Given the description of an element on the screen output the (x, y) to click on. 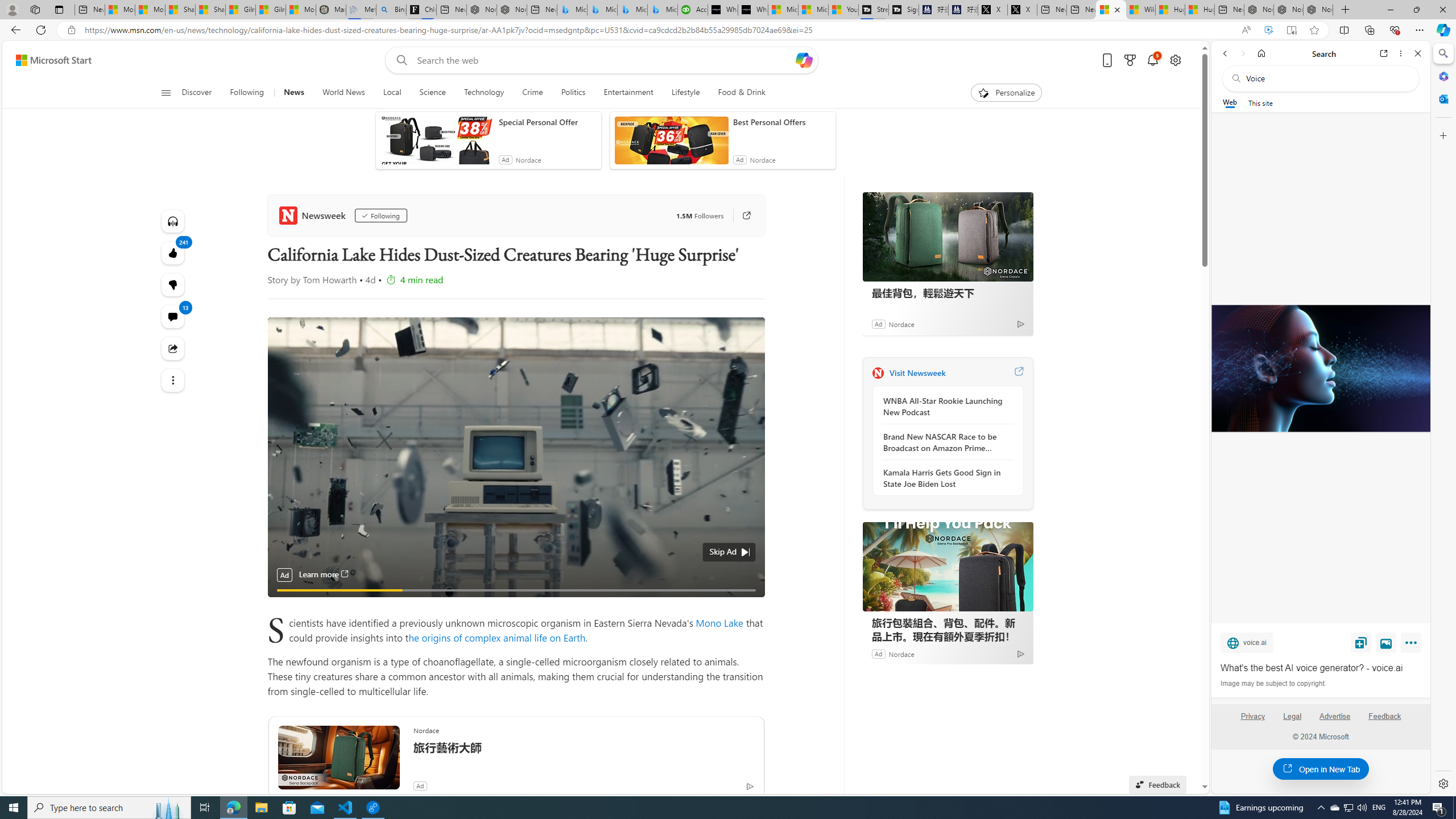
Web scope (1230, 102)
More options (1401, 53)
More like this241Fewer like thisView comments (172, 284)
Entertainment (627, 92)
Microsoft Start Sports (782, 9)
Technology (483, 92)
Class: button-glyph (165, 92)
Crime (531, 92)
Listen to this article (172, 220)
Science (432, 92)
